Given the description of an element on the screen output the (x, y) to click on. 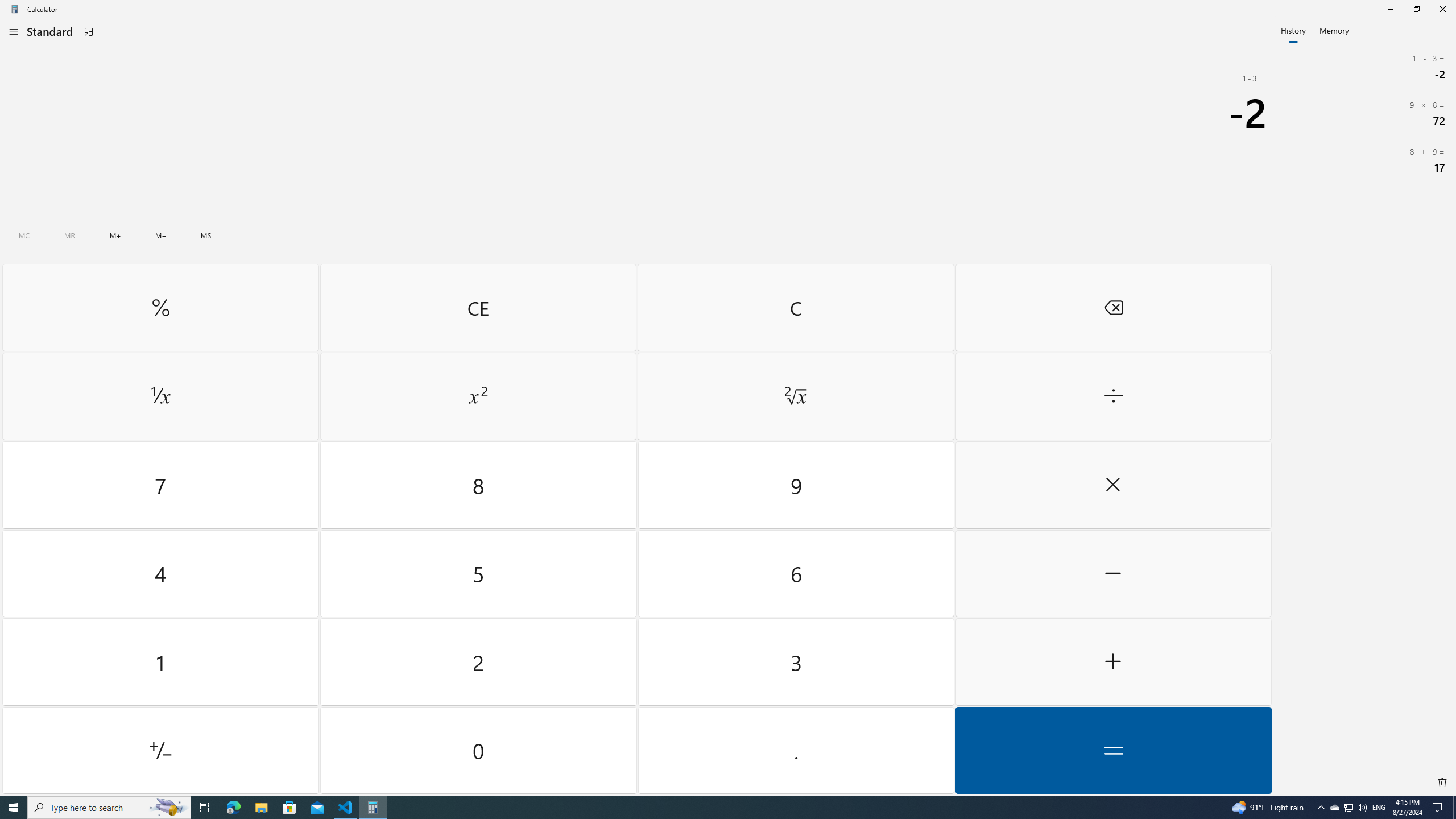
Minus (1347, 807)
1 Minus ( 3= Minus (2 (1113, 572)
Type here to search (1364, 66)
Clear (108, 807)
Square root (795, 307)
Multiply by (795, 396)
Microsoft Store (1113, 485)
Show desktop (289, 807)
Two (1454, 807)
Start (478, 661)
Square (13, 807)
Backspace (478, 396)
